Given the description of an element on the screen output the (x, y) to click on. 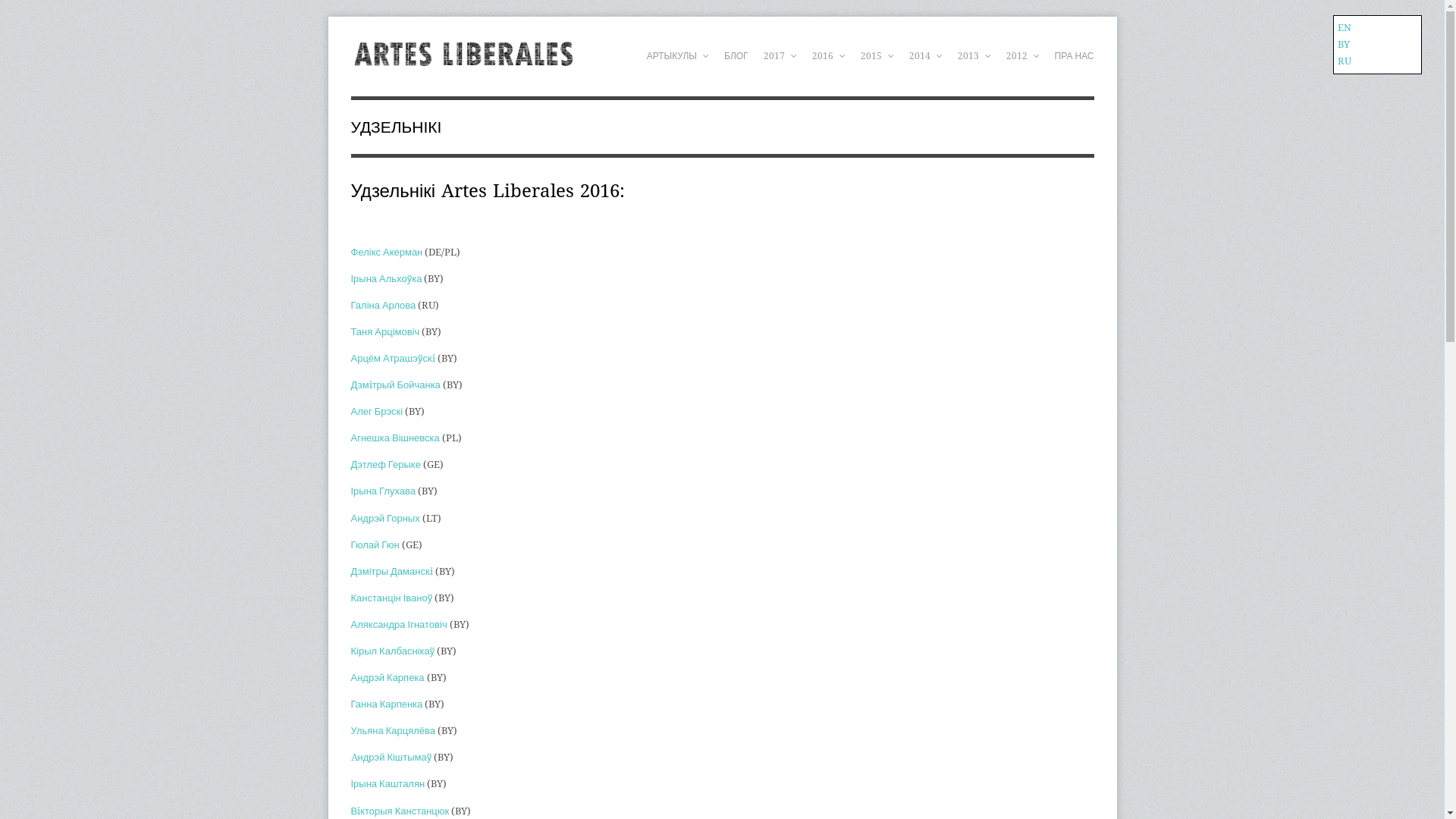
2012 Element type: text (1022, 55)
RU Element type: text (1344, 60)
EN Element type: text (1344, 27)
2013 Element type: text (974, 55)
2017 Element type: text (780, 55)
2016 Element type: text (828, 55)
BY Element type: text (1343, 44)
2015 Element type: text (877, 55)
2014 Element type: text (925, 55)
